Given the description of an element on the screen output the (x, y) to click on. 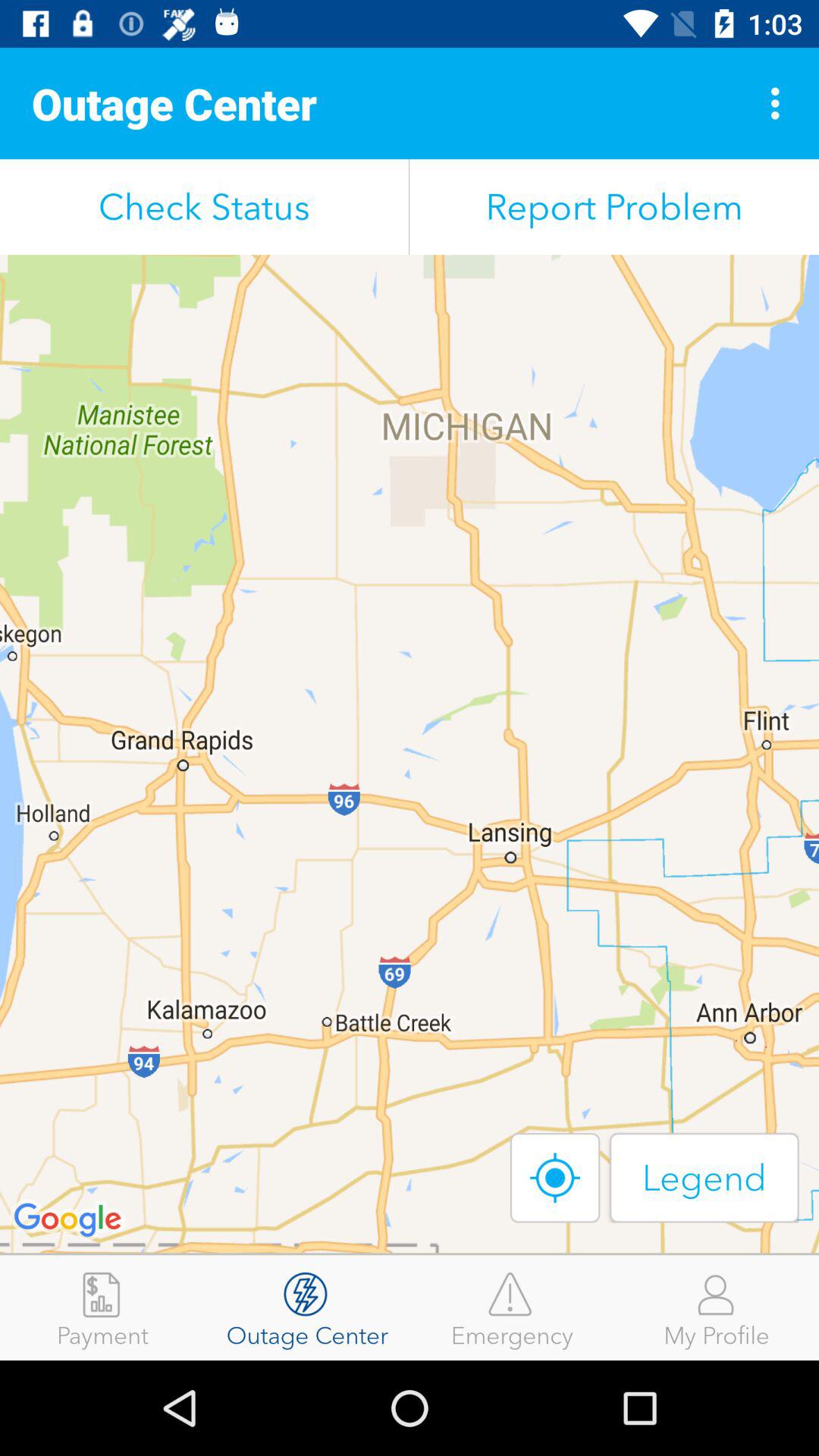
press icon below the report problem item (555, 1177)
